Given the description of an element on the screen output the (x, y) to click on. 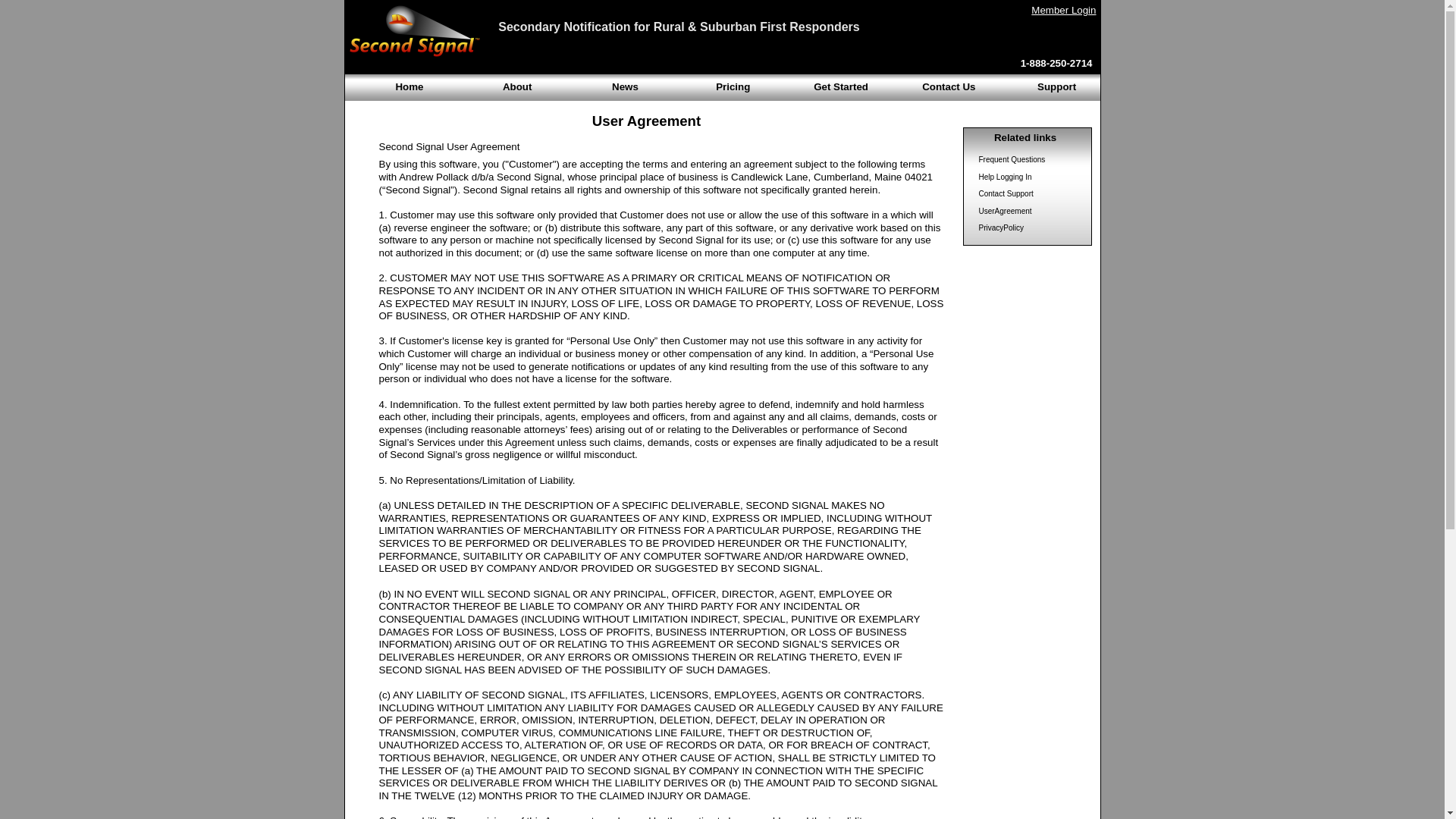
Pricing (732, 86)
News (625, 86)
Contact Support (1005, 193)
Contact Us (948, 86)
About (517, 86)
Support (1055, 86)
Help Logging In (1004, 176)
Home (408, 86)
UserAgreement (1004, 211)
Member Login (1063, 9)
Frequent Questions (1011, 159)
PrivacyPolicy (1000, 227)
Get Started (840, 86)
